Given the description of an element on the screen output the (x, y) to click on. 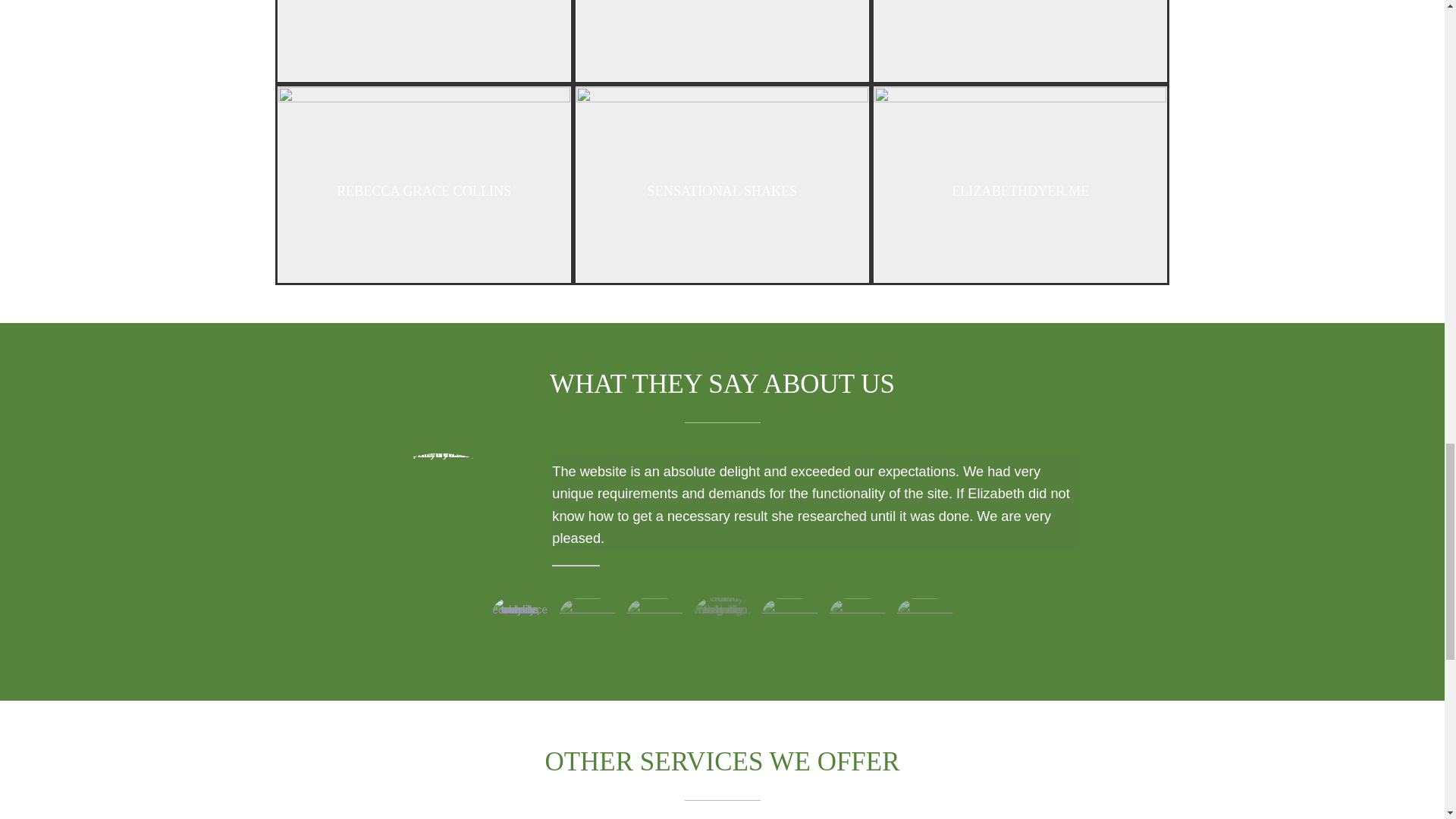
REBECCA GRACE COLLINS (423, 183)
ELIZABETHDYER.ME (1020, 183)
SENSATIONAL SHAKES (721, 183)
MY SHAKE THE WEIGHT PLAN (1020, 40)
DEVELOPING HORIZONS (721, 40)
